Given the description of an element on the screen output the (x, y) to click on. 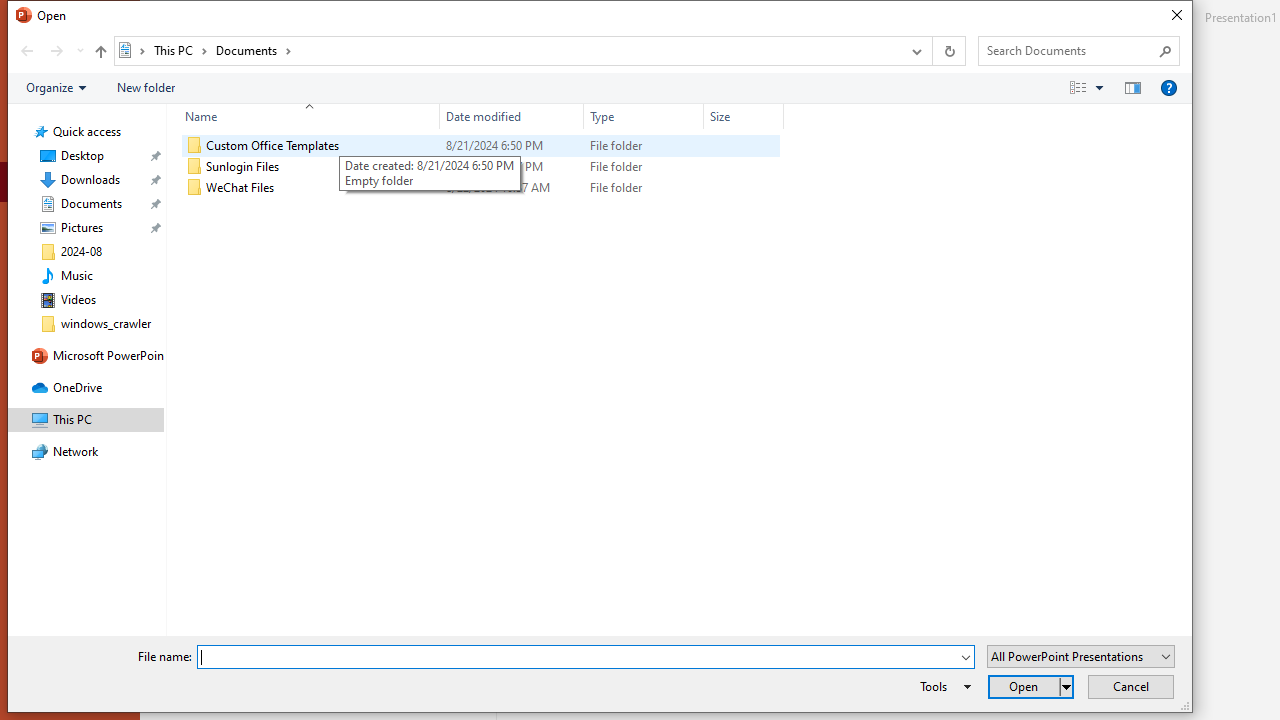
Date modified (511, 187)
This PC (180, 50)
Class: UIImage (194, 187)
Name (303, 115)
Name (321, 187)
File name: (586, 656)
Date modified (511, 115)
Up to "This PC" (Alt + Up Arrow) (100, 52)
Preview pane (1132, 87)
